Given the description of an element on the screen output the (x, y) to click on. 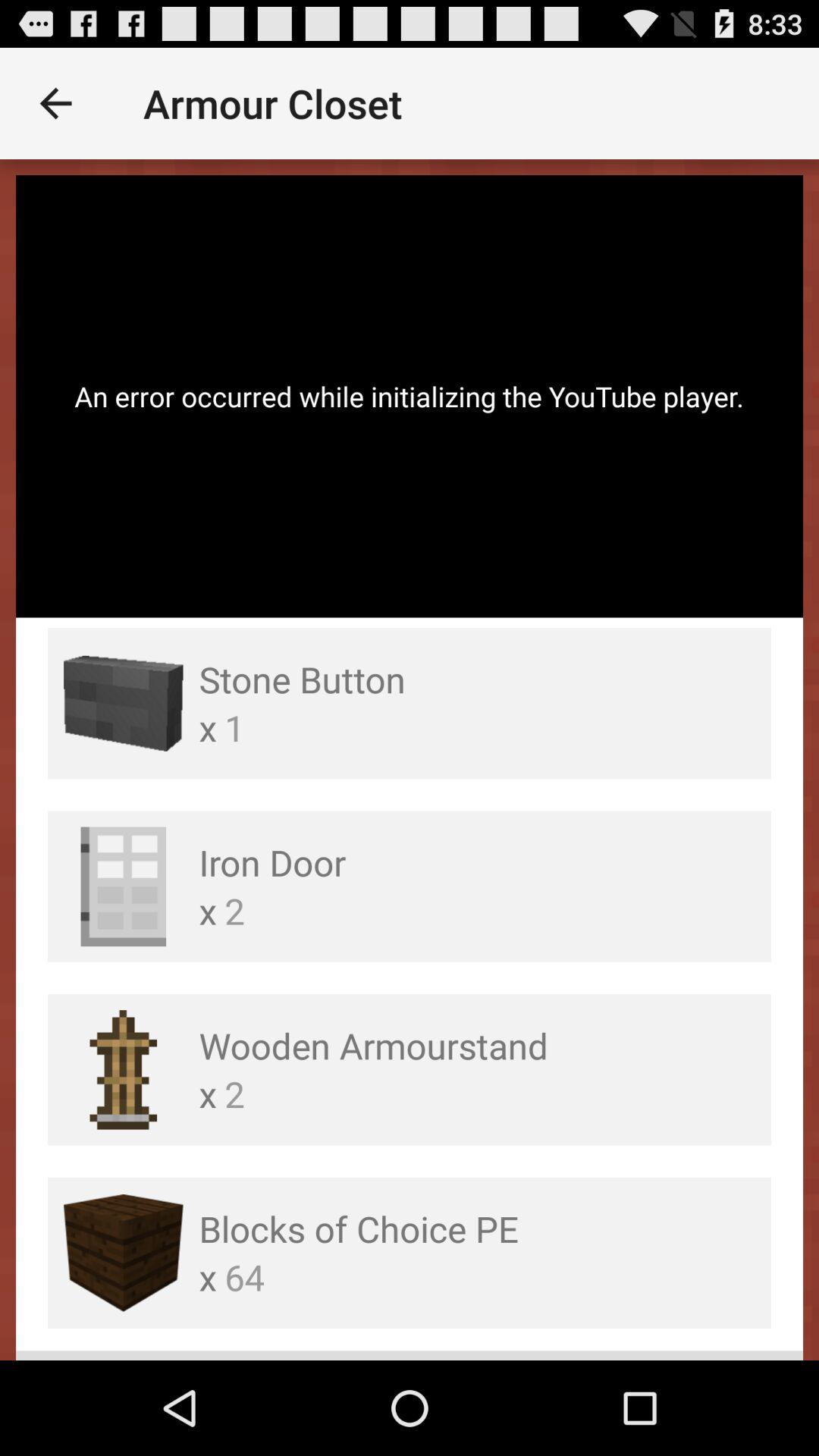
choose item above the an error occurred (55, 103)
